Given the description of an element on the screen output the (x, y) to click on. 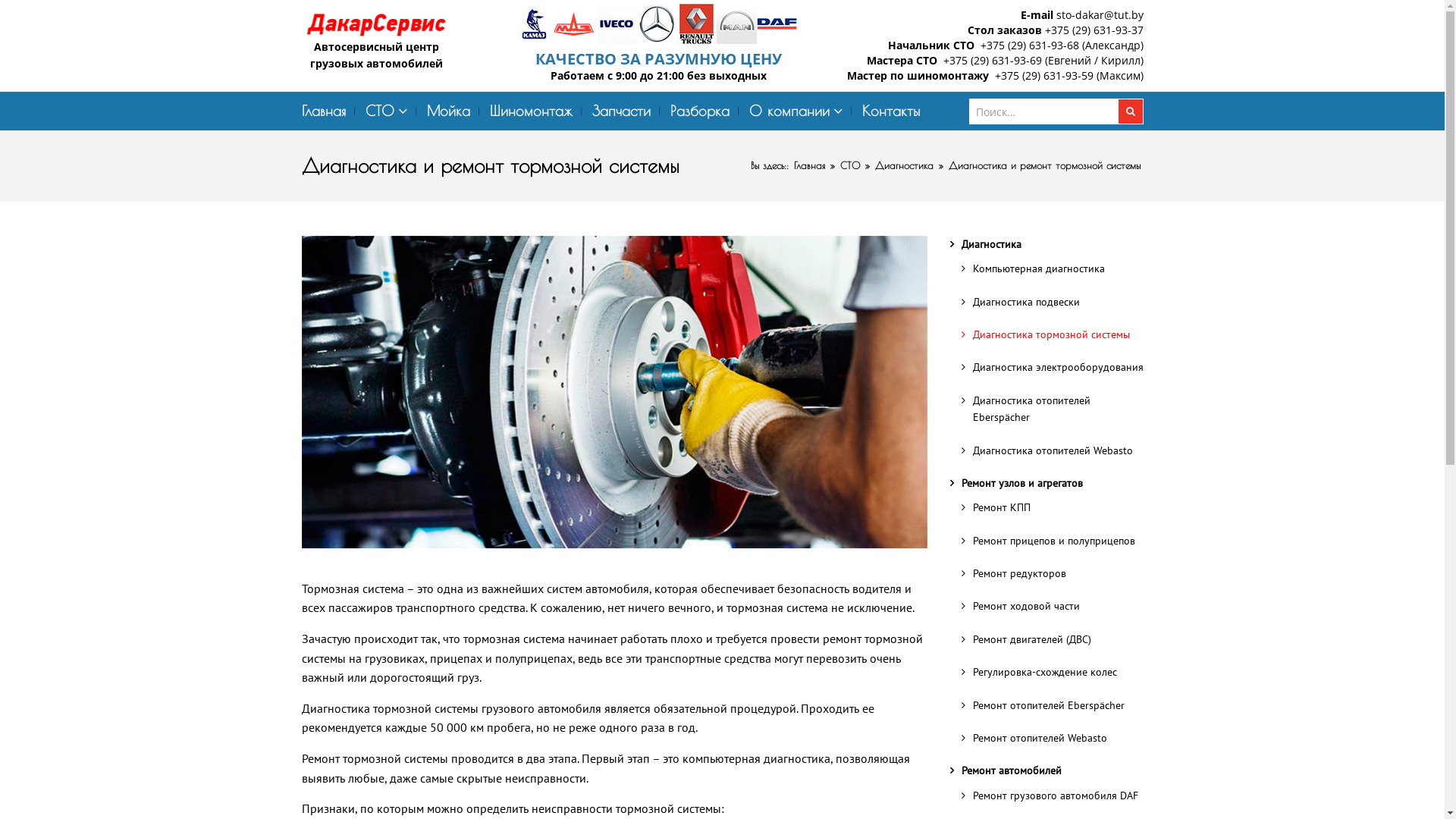
sto-dakar@tut.by Element type: text (1098, 14)
+375 (29) 631-93-68 Element type: text (1028, 44)
+375 (29) 631-93-37 Element type: text (1093, 29)
+375 (29) 631-93-59 Element type: text (1043, 75)
+375 (29) 631-93-69 Element type: text (992, 60)
